Given the description of an element on the screen output the (x, y) to click on. 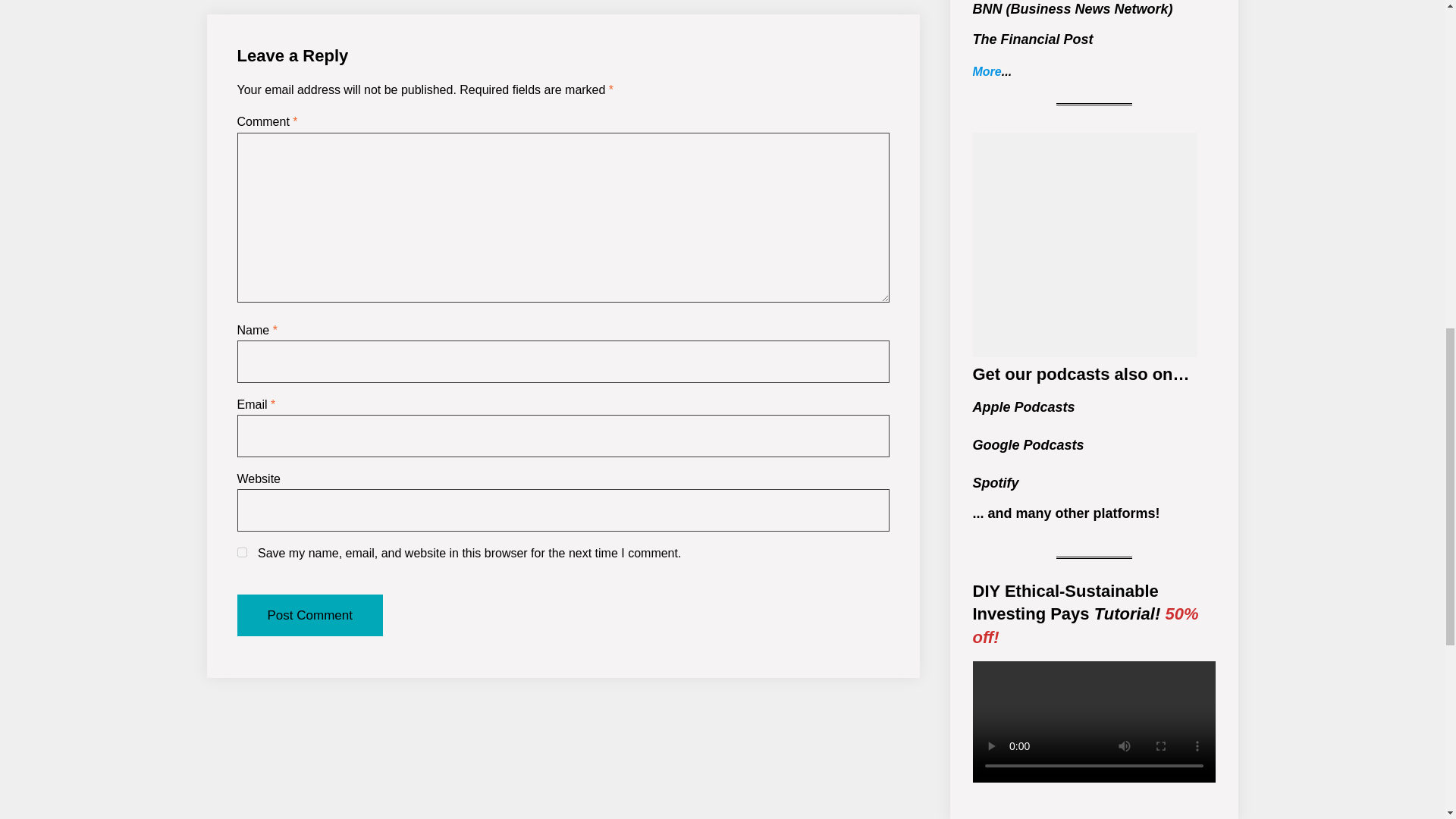
yes (240, 552)
Apple Podcasts (1023, 406)
More (986, 71)
Post Comment (308, 615)
Post Comment (308, 615)
Spotify (994, 482)
Google Podcasts (1027, 444)
our podcasts (1056, 374)
